Given the description of an element on the screen output the (x, y) to click on. 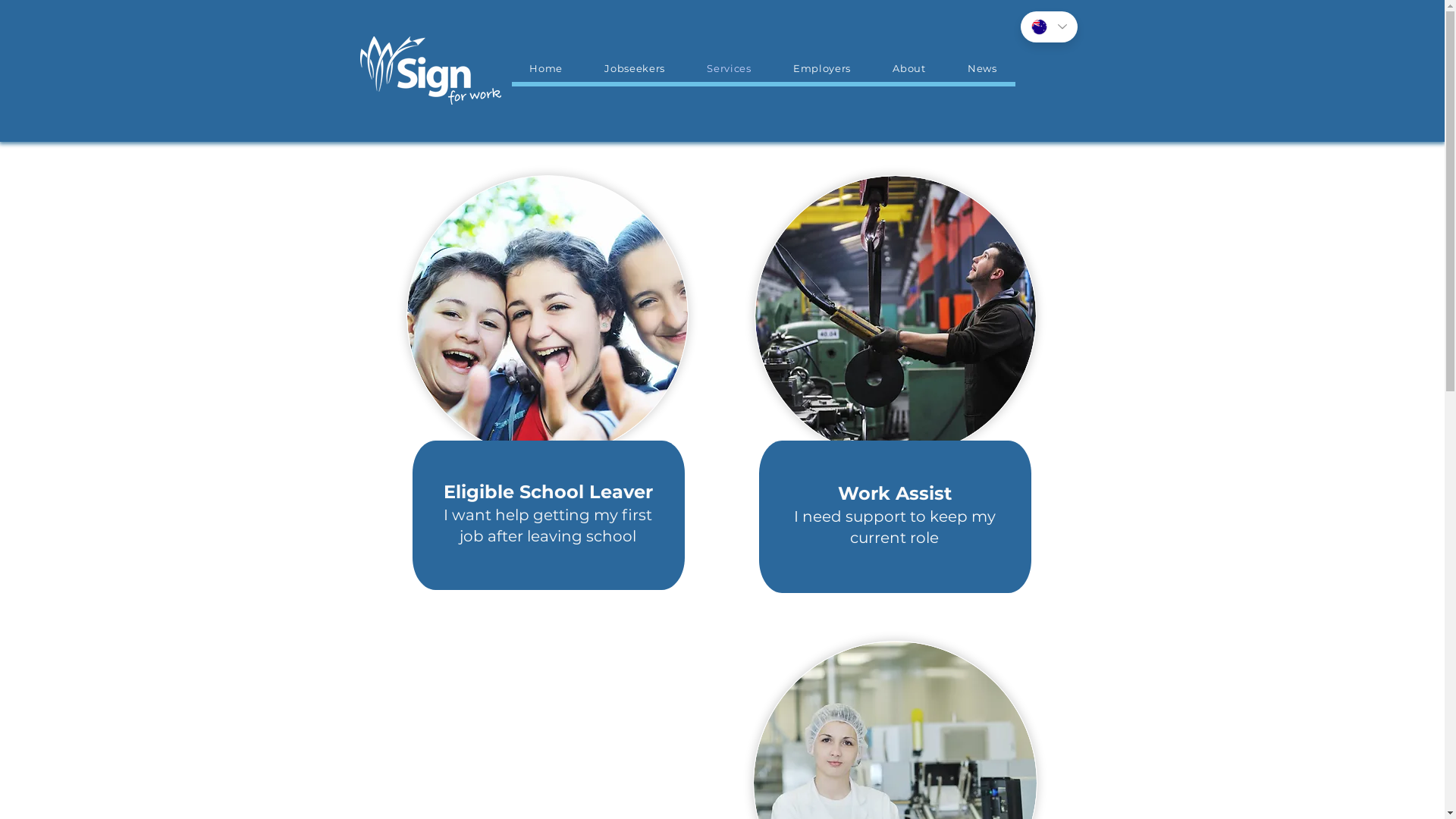
About Element type: text (909, 67)
Jobseekers Element type: text (634, 67)
Employers Element type: text (821, 67)
Services Element type: text (729, 67)
Eligible School Leaver Element type: text (547, 490)
Home Element type: hover (429, 70)
Home Element type: text (545, 67)
Work Assist Element type: text (893, 492)
News Element type: text (981, 67)
I want help getting my first job after leaving school Element type: text (547, 524)
I need support to keep my current role Element type: text (893, 526)
